Given the description of an element on the screen output the (x, y) to click on. 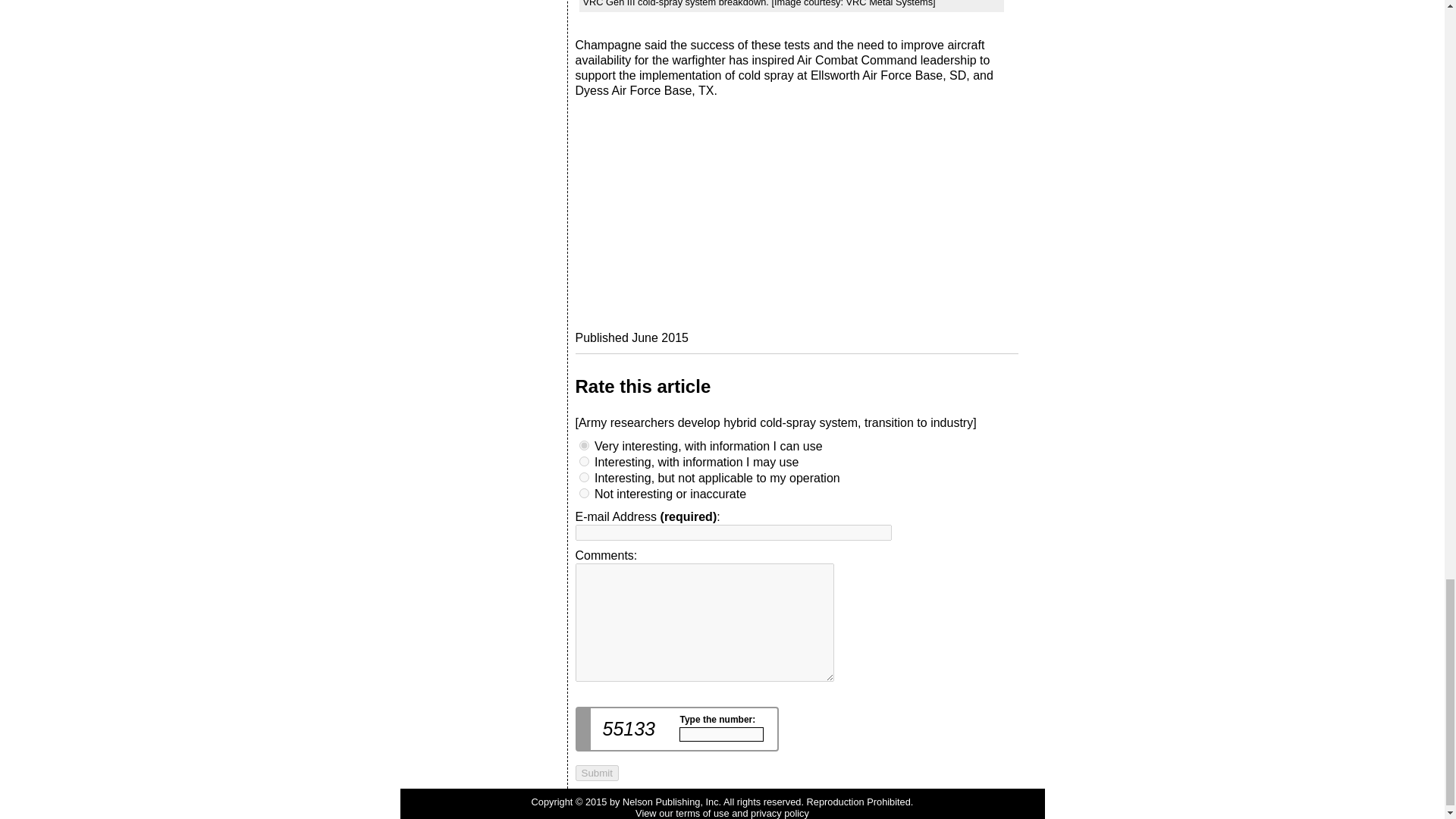
3 (584, 445)
2 (584, 461)
0 (584, 492)
Submit (596, 772)
Submit (596, 772)
1 (584, 477)
